Given the description of an element on the screen output the (x, y) to click on. 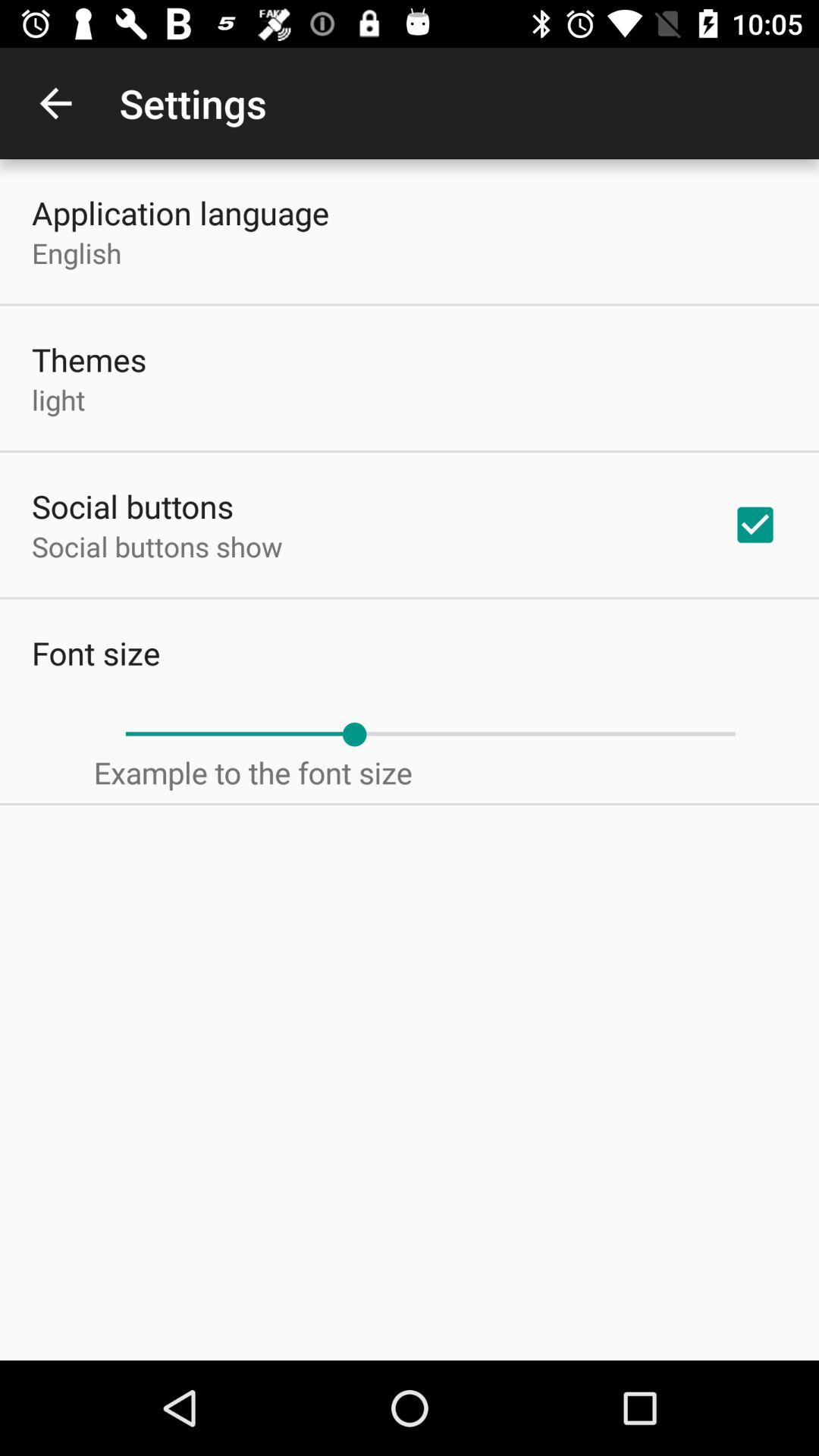
flip to the application language item (180, 212)
